Given the description of an element on the screen output the (x, y) to click on. 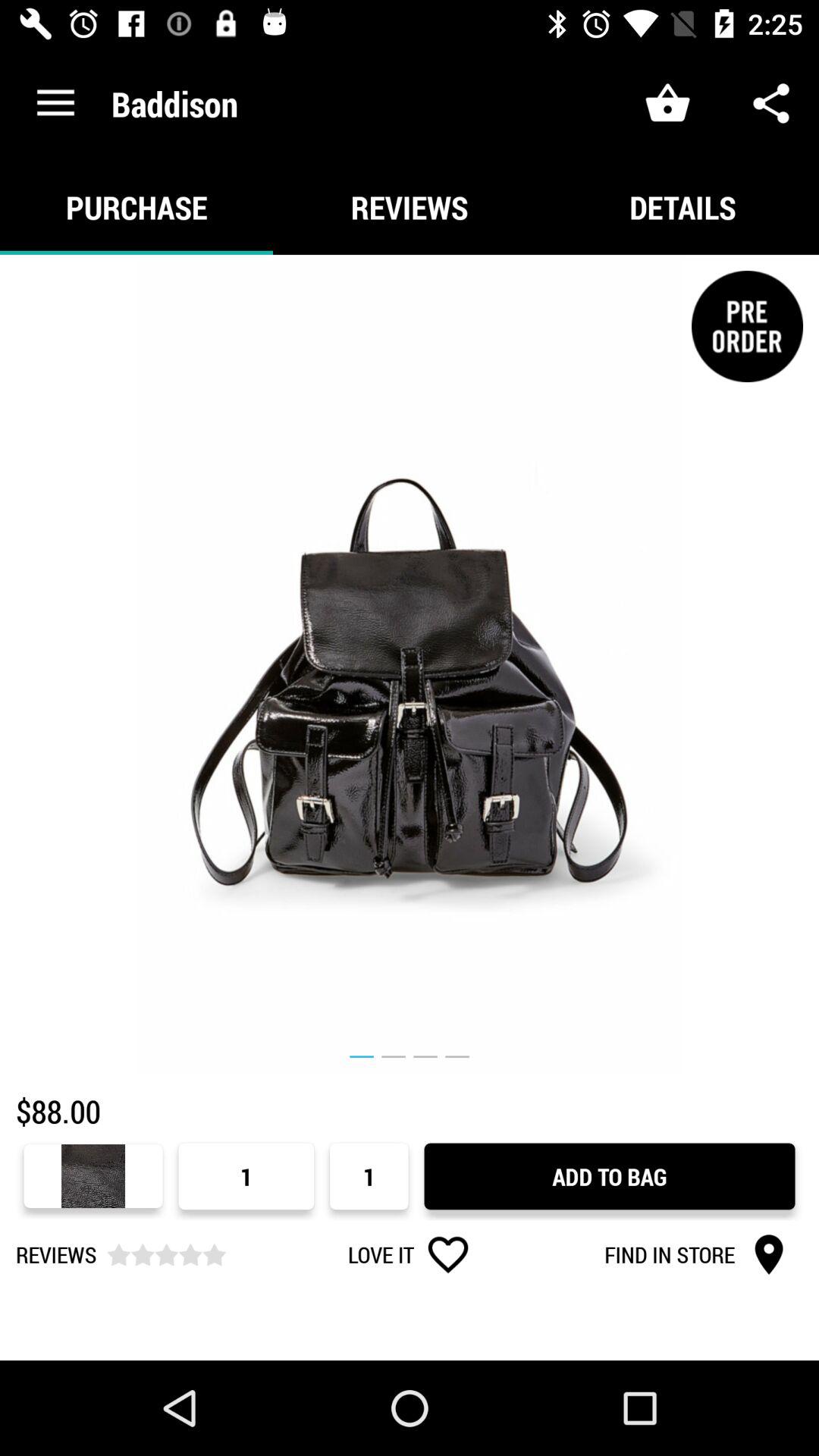
view image (409, 663)
